Given the description of an element on the screen output the (x, y) to click on. 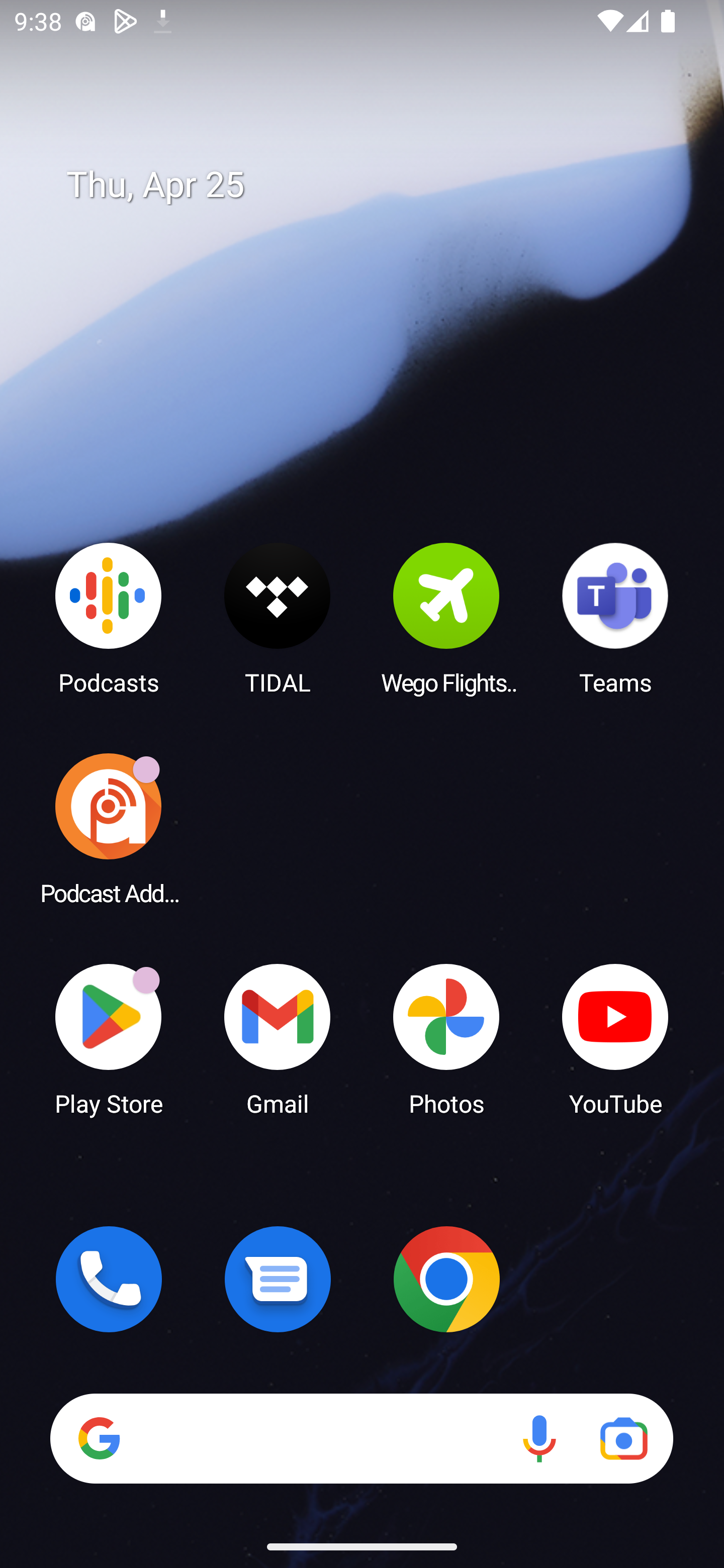
Thu, Apr 25 (375, 184)
Podcasts (108, 617)
TIDAL (277, 617)
Wego Flights & Hotels (445, 617)
Teams (615, 617)
Play Store Play Store has 1 notification (108, 1038)
Gmail (277, 1038)
Photos (445, 1038)
YouTube (615, 1038)
Phone (108, 1279)
Messages (277, 1279)
Chrome (446, 1279)
Search Voice search Google Lens (361, 1438)
Voice search (539, 1438)
Google Lens (623, 1438)
